Given the description of an element on the screen output the (x, y) to click on. 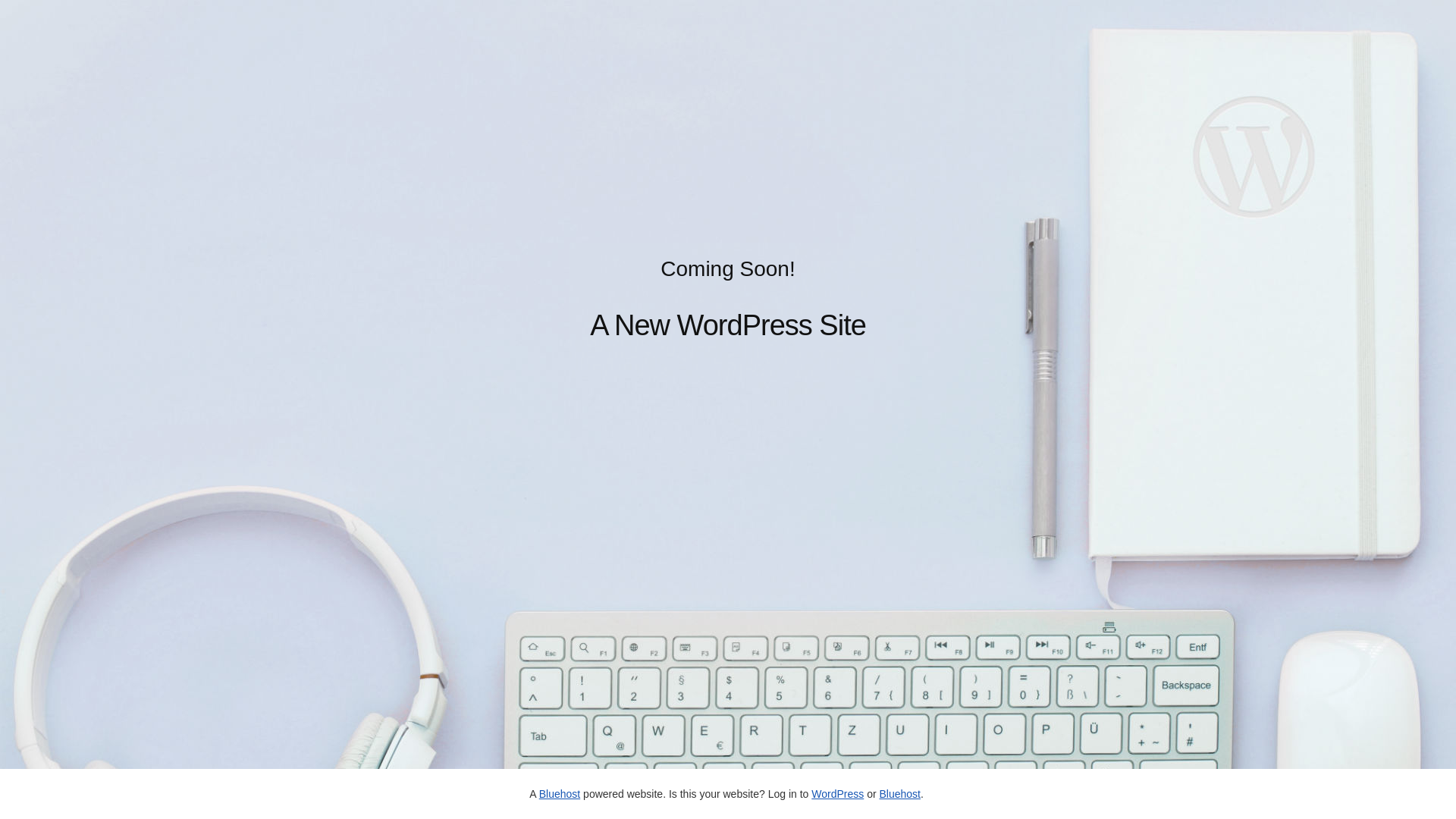
Bluehost Element type: text (898, 793)
WordPress Element type: text (837, 793)
Bluehost Element type: text (559, 793)
